Given the description of an element on the screen output the (x, y) to click on. 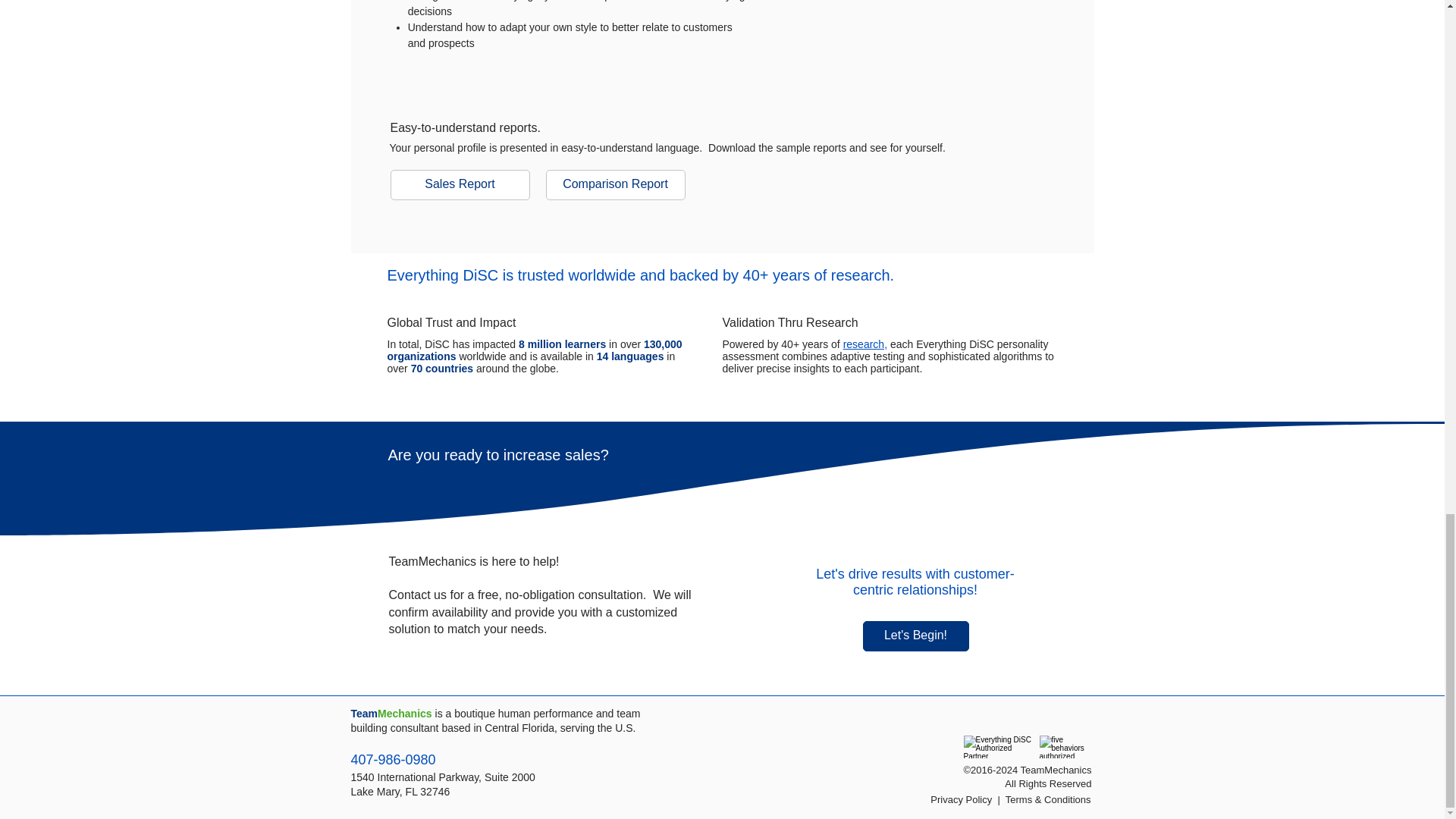
Successful Manager (899, 40)
Comparison Report (615, 184)
research, (864, 344)
Let's Begin! (916, 635)
Privacy Policy (960, 799)
Sales Report (459, 184)
407-986-0980 (392, 759)
